Given the description of an element on the screen output the (x, y) to click on. 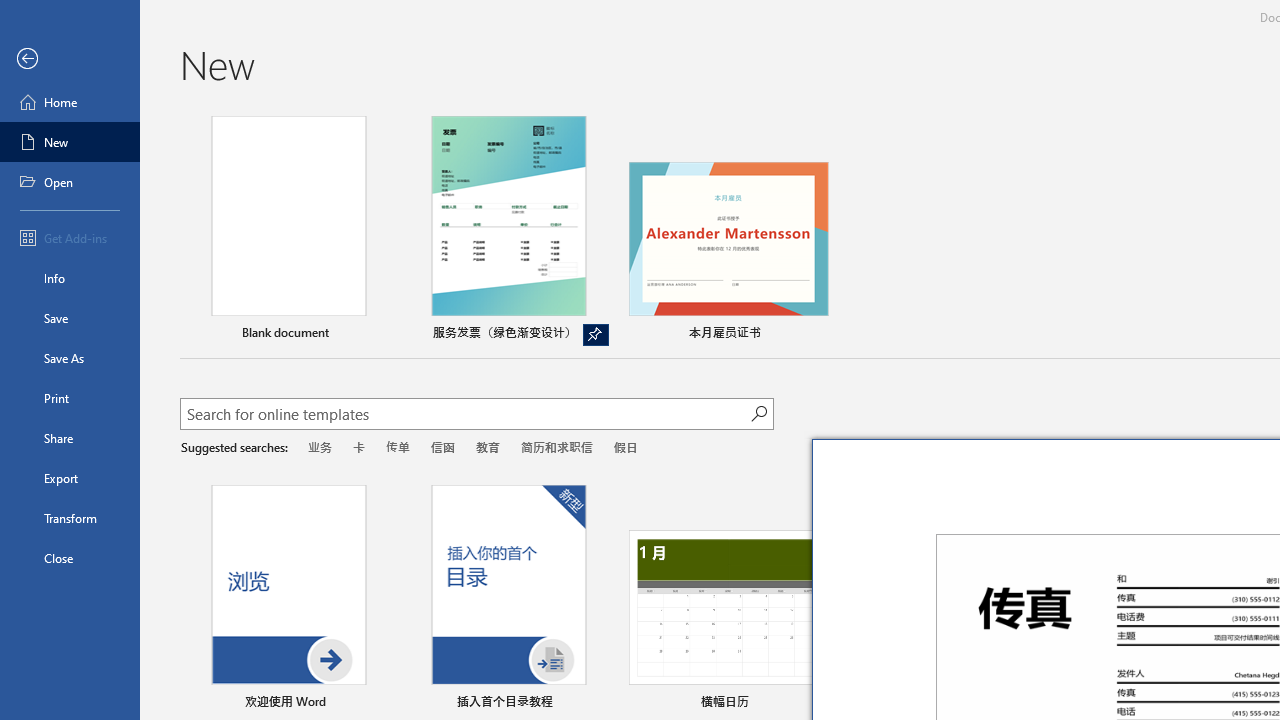
Pin to list (595, 703)
Blank document (288, 231)
Print (69, 398)
Info (69, 277)
Save As (69, 357)
Search for online templates (465, 416)
